Given the description of an element on the screen output the (x, y) to click on. 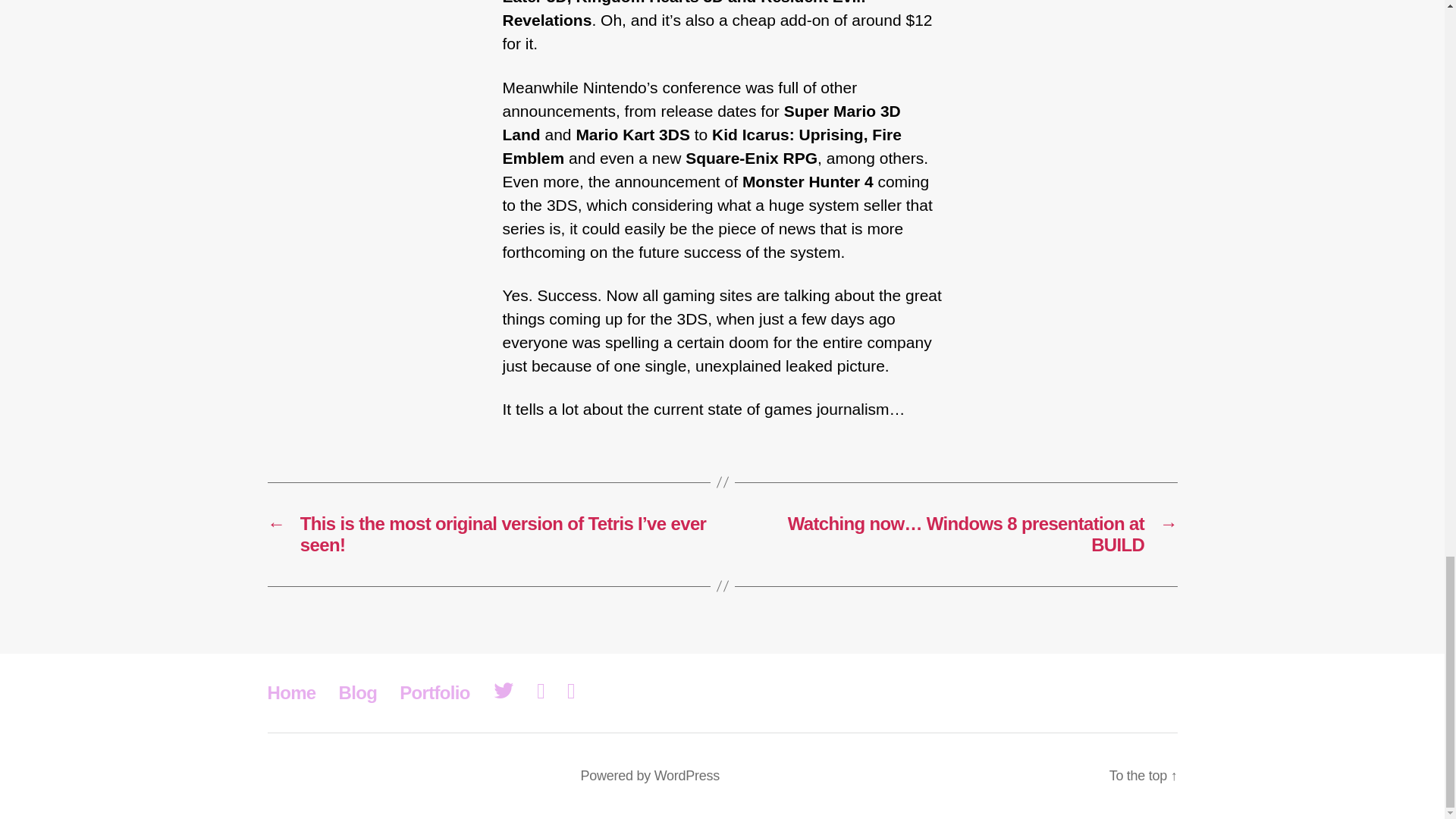
Twitter (503, 692)
Powered by WordPress (649, 775)
Blog (358, 692)
Home (290, 692)
Portfolio (434, 692)
